Given the description of an element on the screen output the (x, y) to click on. 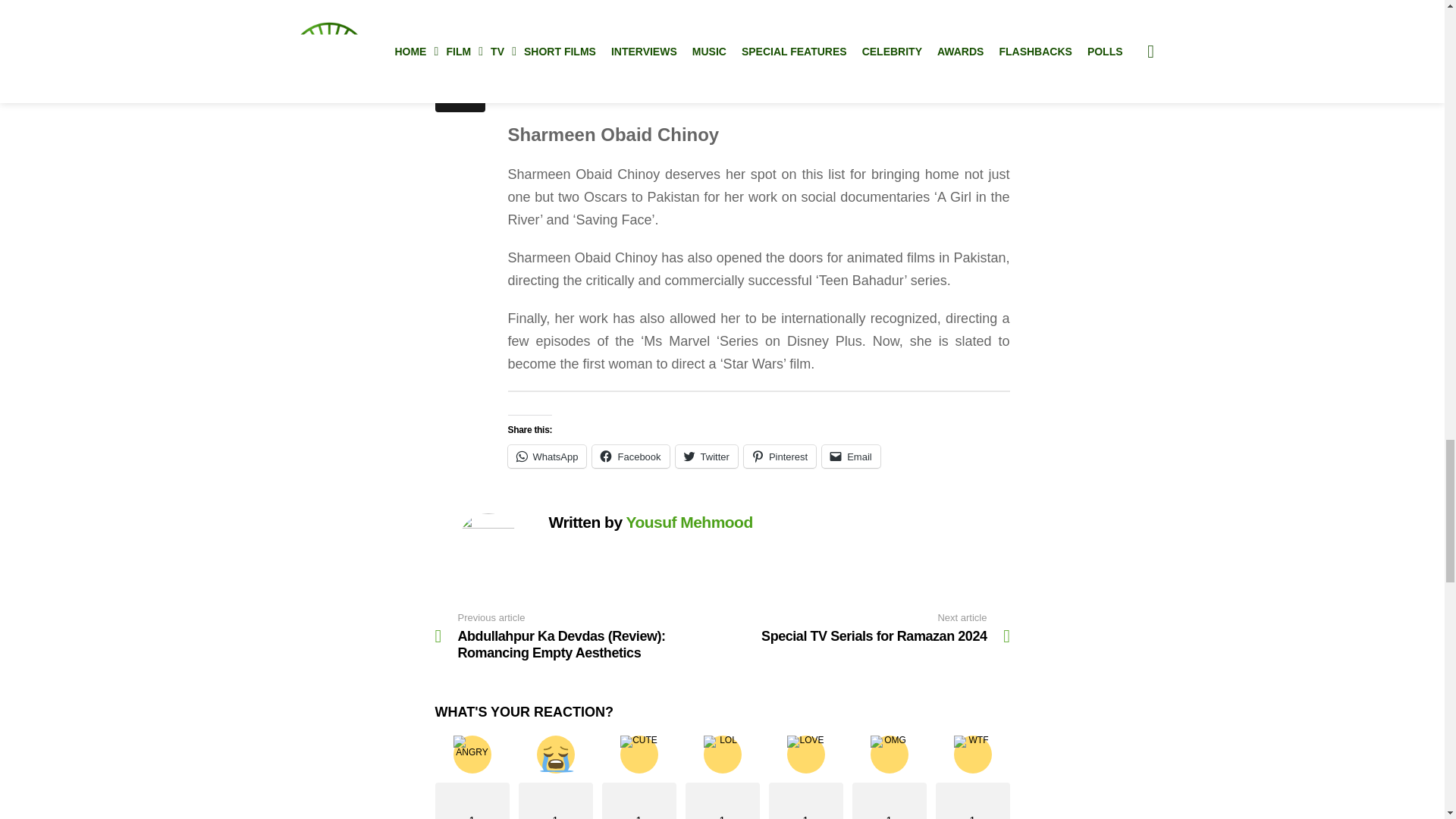
Click to share on WhatsApp (547, 456)
Click to email a link to a friend (851, 456)
Click to share on Facebook (630, 456)
Click to share on Pinterest (779, 456)
Click to share on Twitter (706, 456)
